Given the description of an element on the screen output the (x, y) to click on. 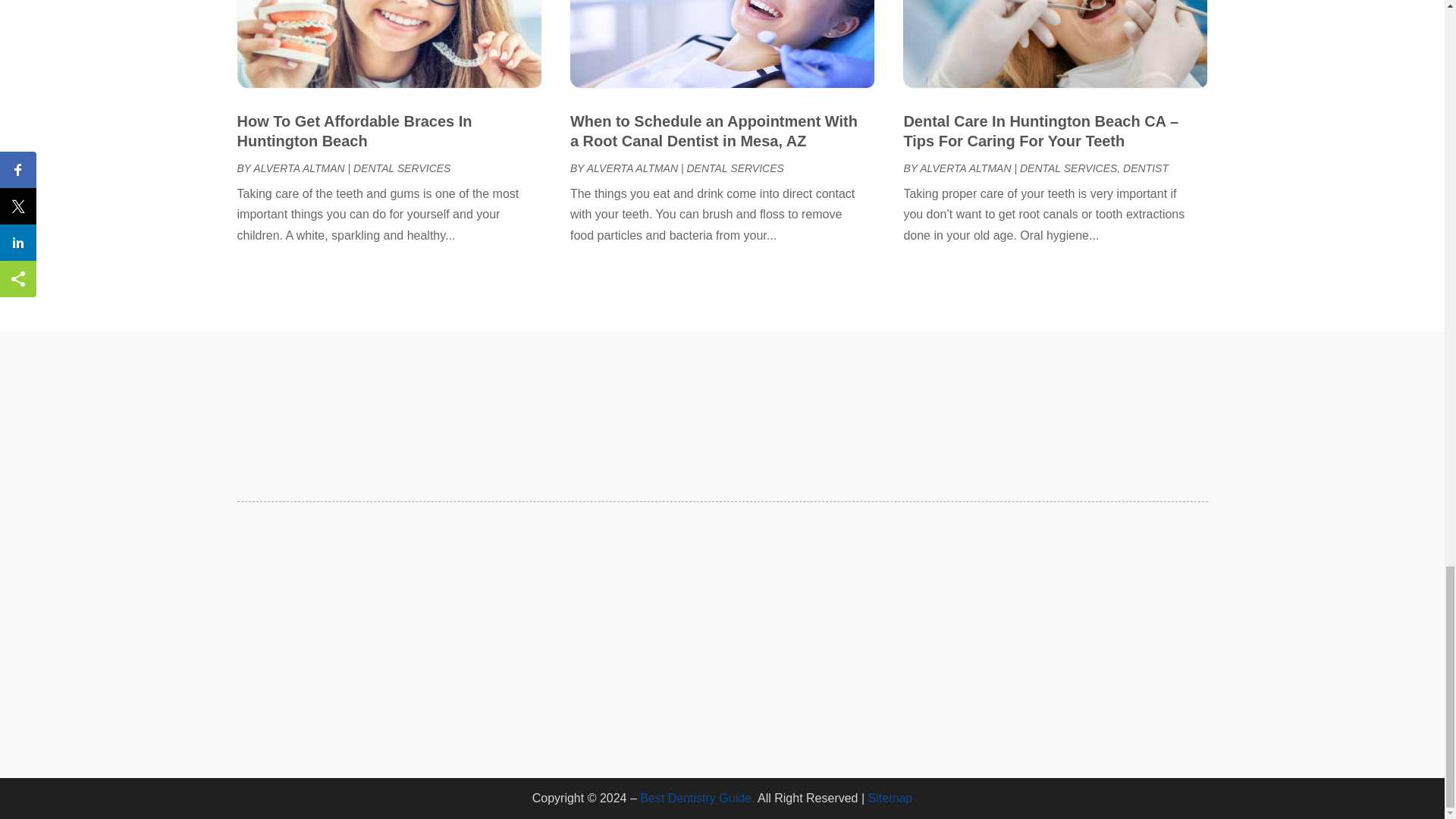
Posts by Alverta Altman (632, 168)
Posts by Alverta Altman (965, 168)
Posts by Alverta Altman (298, 168)
